Given the description of an element on the screen output the (x, y) to click on. 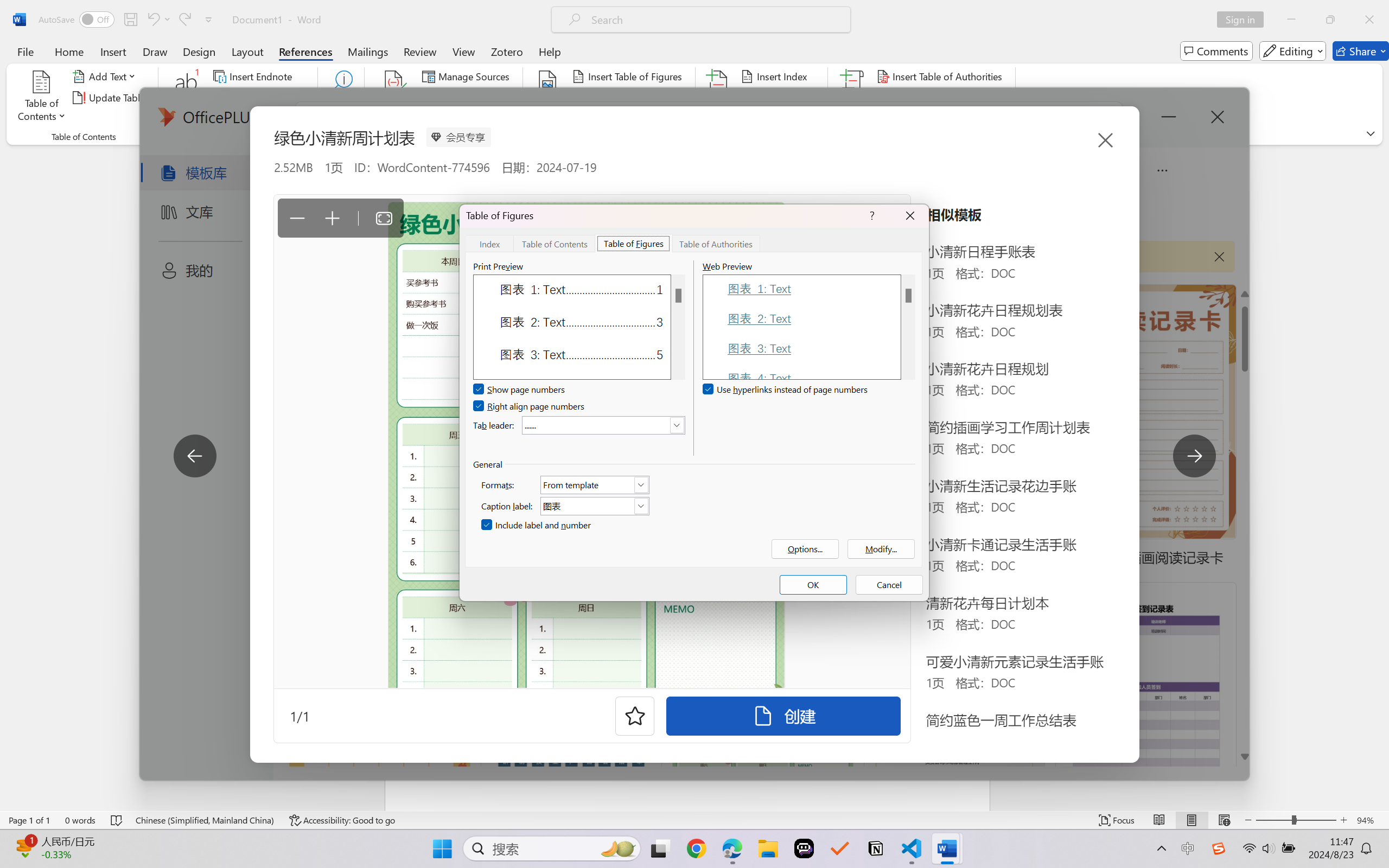
Index (489, 243)
Update Index (778, 97)
Cancel (889, 584)
Table of Contents (42, 97)
Redo Apply Quick Style (184, 19)
Insert Index... (775, 75)
